Given the description of an element on the screen output the (x, y) to click on. 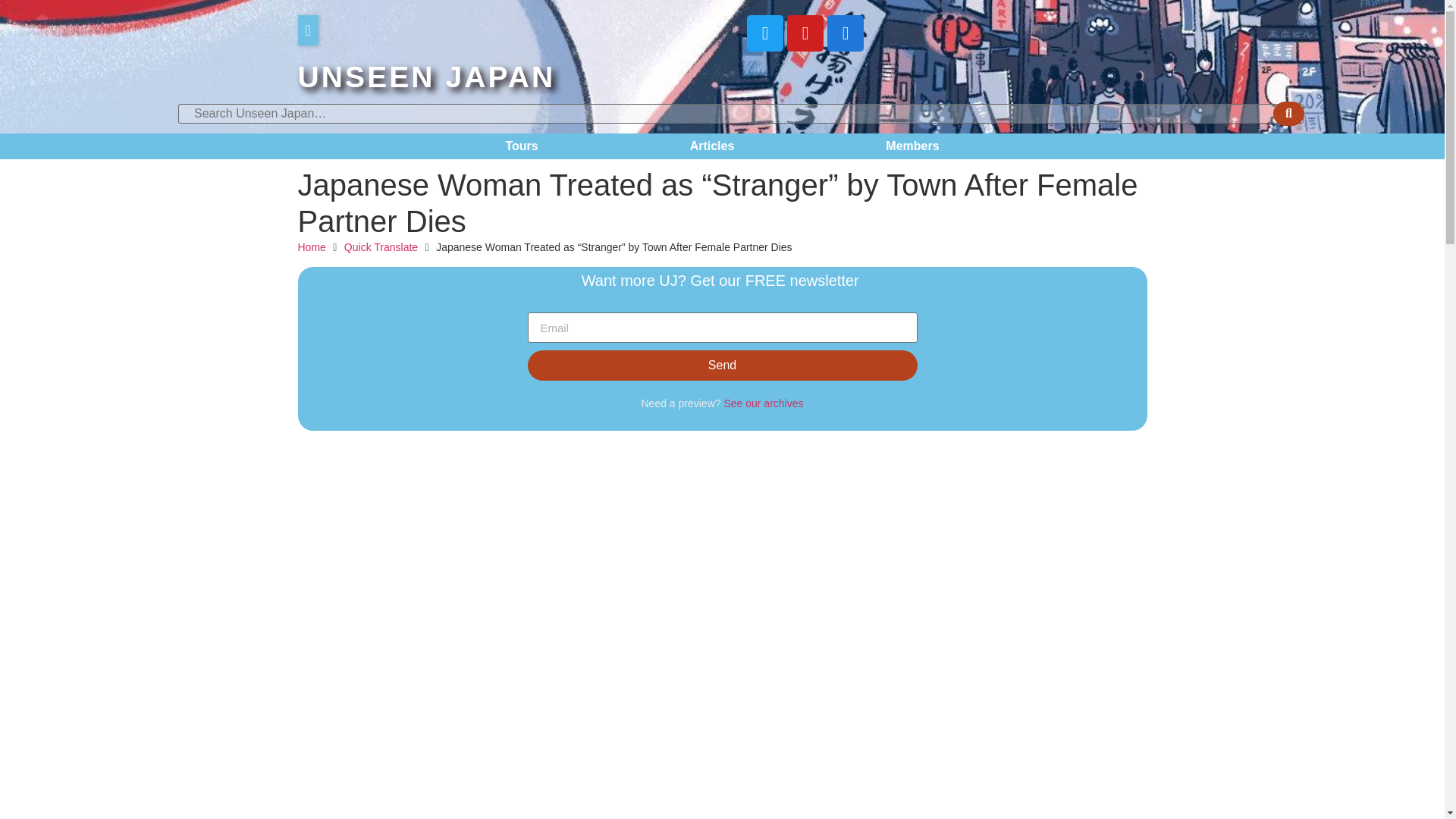
Home (310, 247)
UNSEEN JAPAN (425, 76)
Quick Translate (380, 247)
Home (310, 247)
Send (722, 365)
Tours (521, 145)
See our archives (763, 403)
Articles (712, 145)
Members (911, 145)
Quick Translate (380, 247)
